Given the description of an element on the screen output the (x, y) to click on. 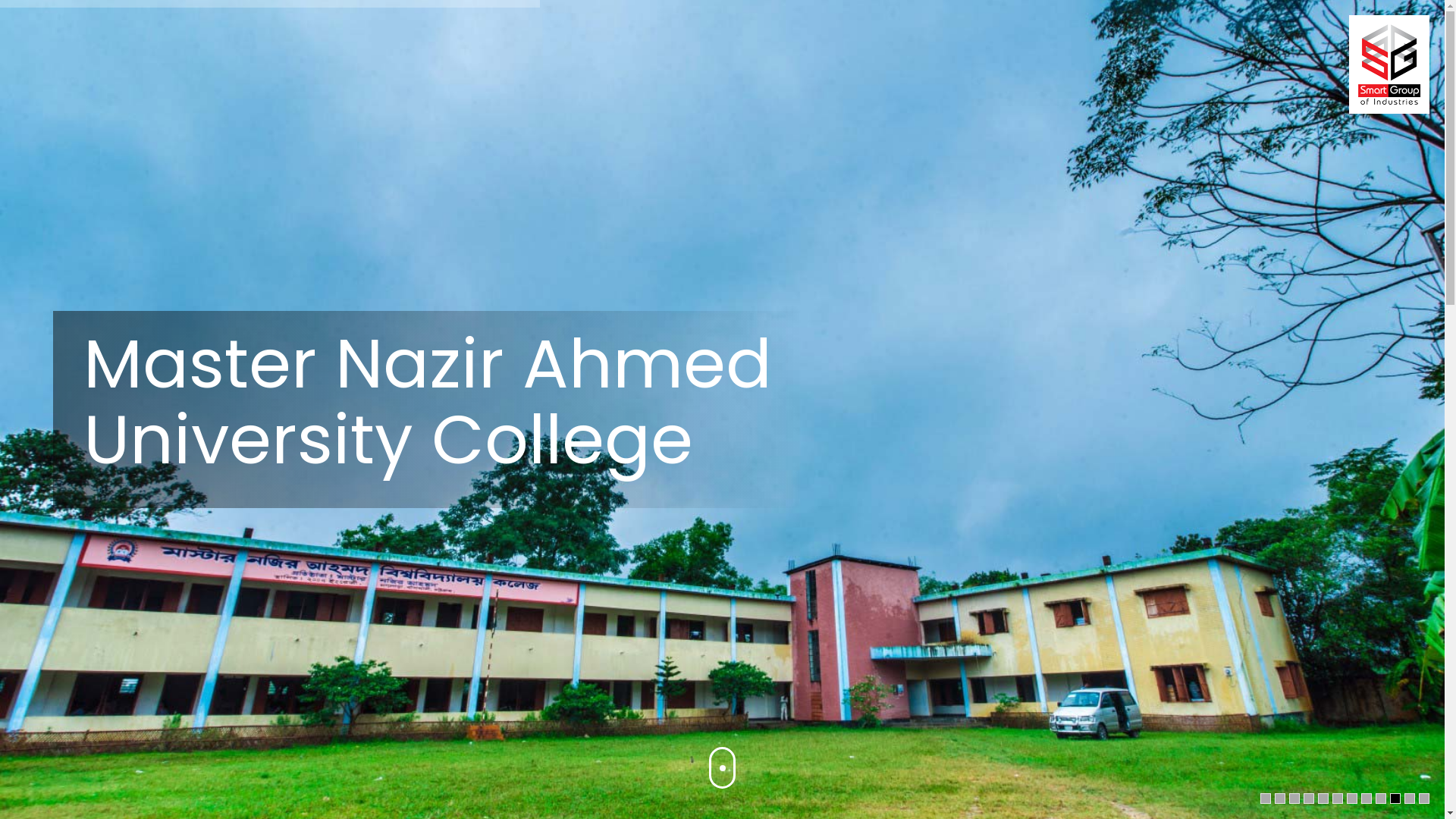
Design Element type: text (1006, 795)
Send Element type: text (1077, 690)
Developed Element type: text (1067, 795)
Smart Group IT Element type: text (1142, 795)
